Given the description of an element on the screen output the (x, y) to click on. 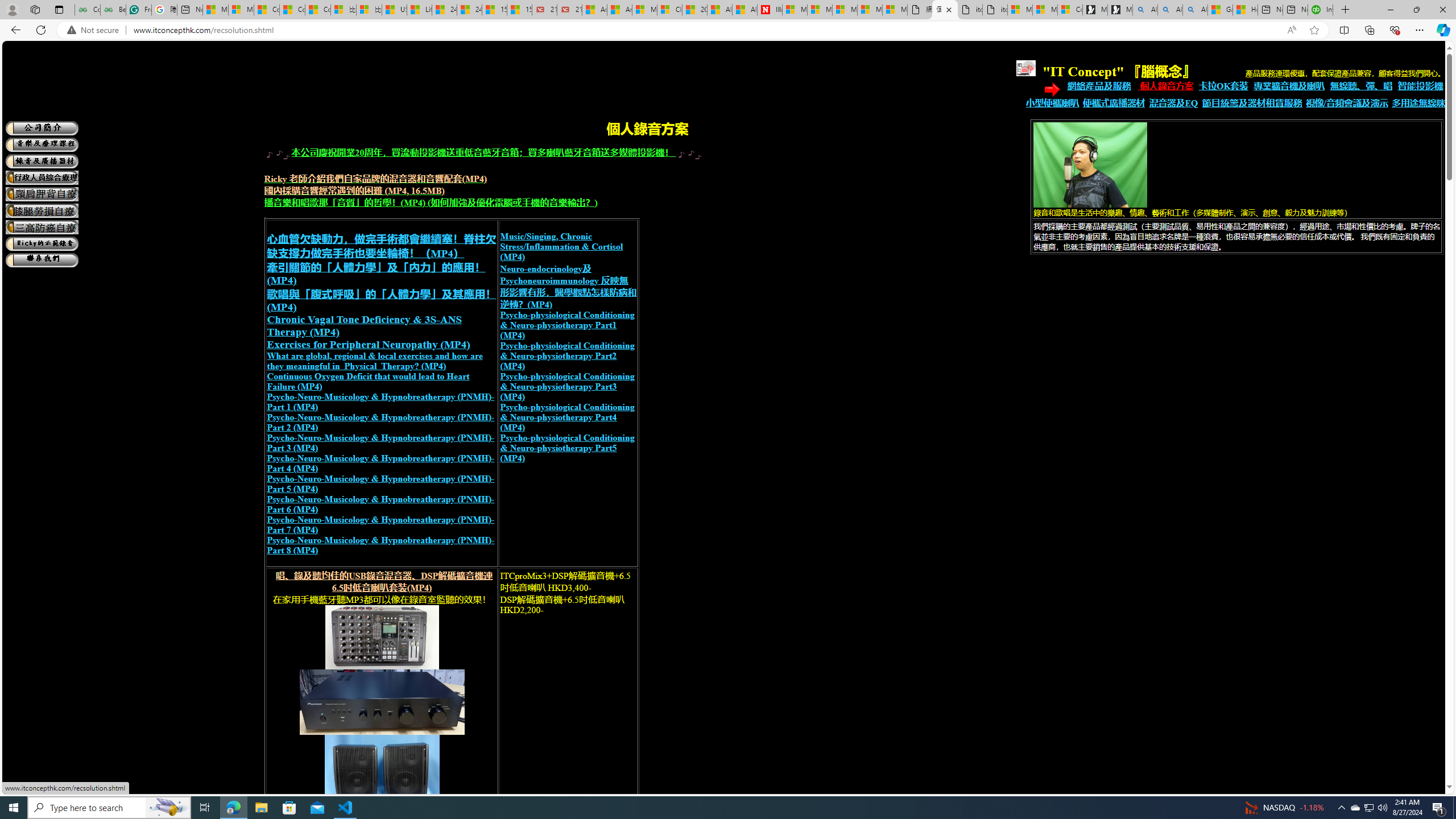
Complete Guide to Arrays Data Structure - GeeksforGeeks (86, 9)
Illness news & latest pictures from Newsweek.com (769, 9)
Consumer Health Data Privacy Policy (1069, 9)
